Given the description of an element on the screen output the (x, y) to click on. 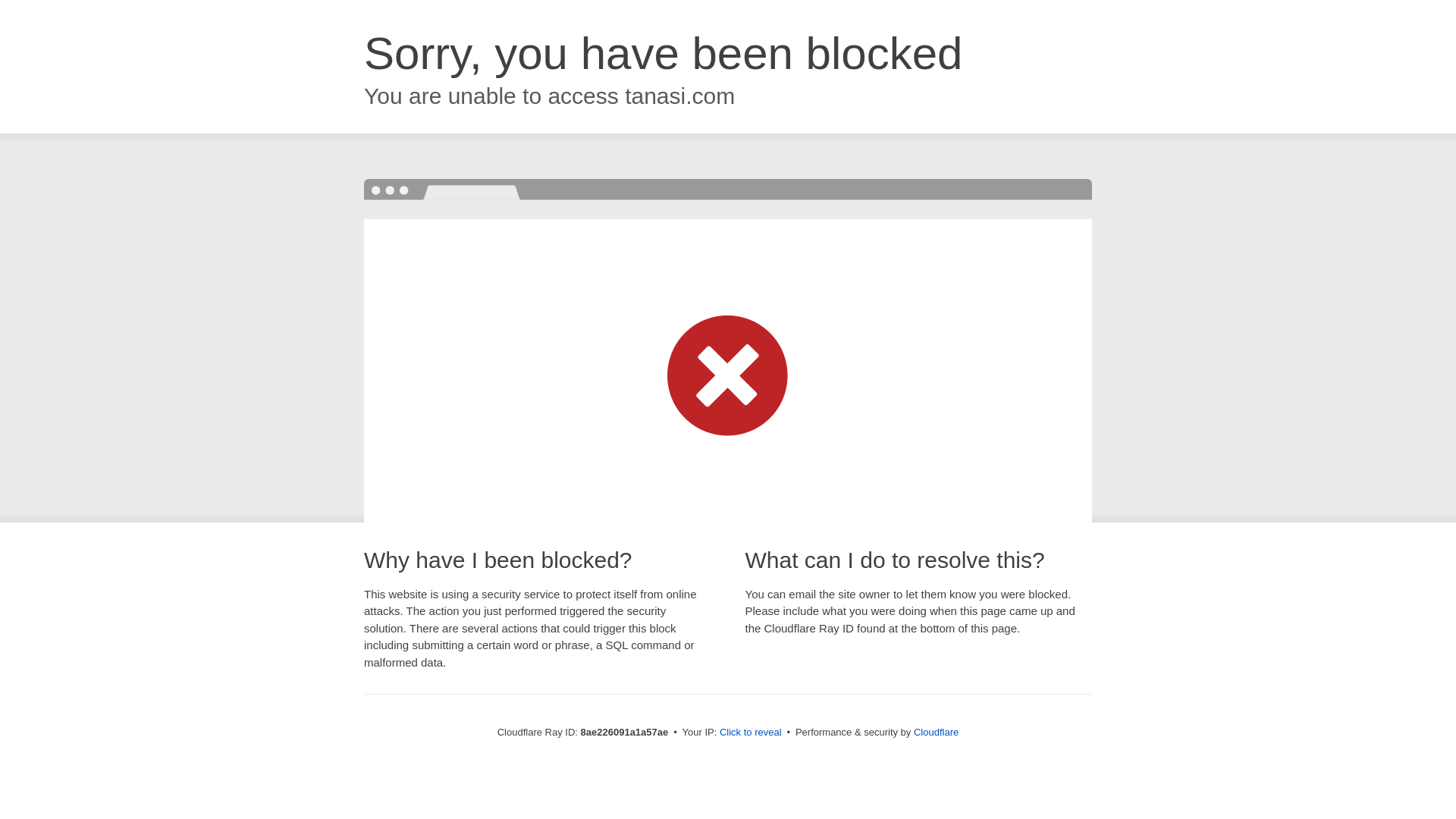
Click to reveal (750, 732)
Cloudflare (936, 731)
